Given the description of an element on the screen output the (x, y) to click on. 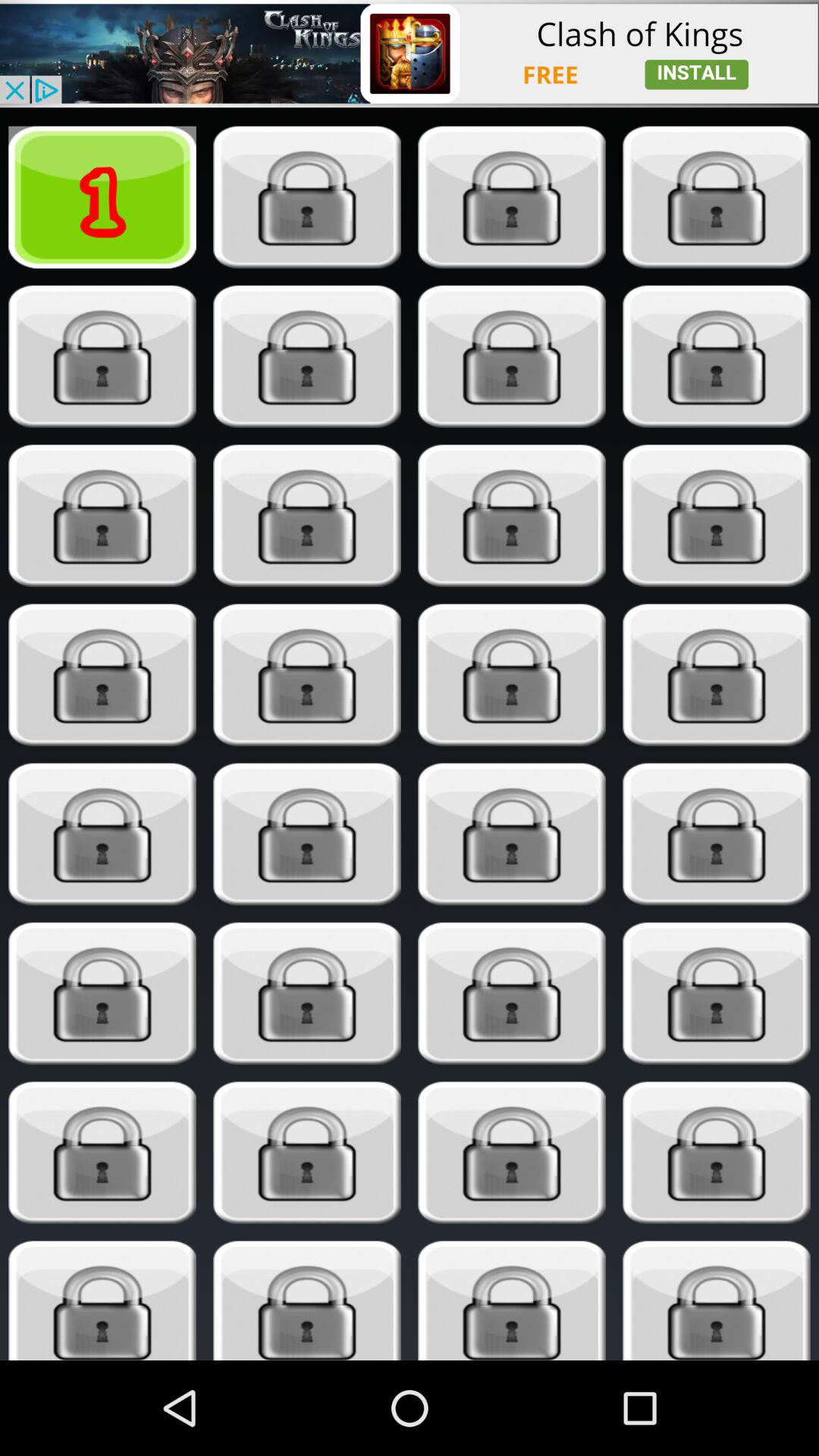
select the image (306, 834)
